Given the description of an element on the screen output the (x, y) to click on. 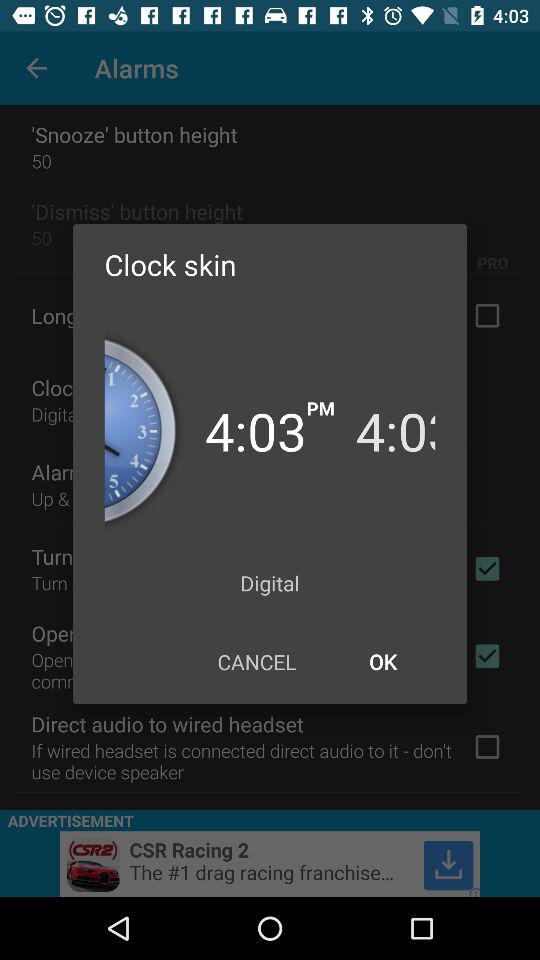
jump until the ok icon (382, 661)
